Given the description of an element on the screen output the (x, y) to click on. 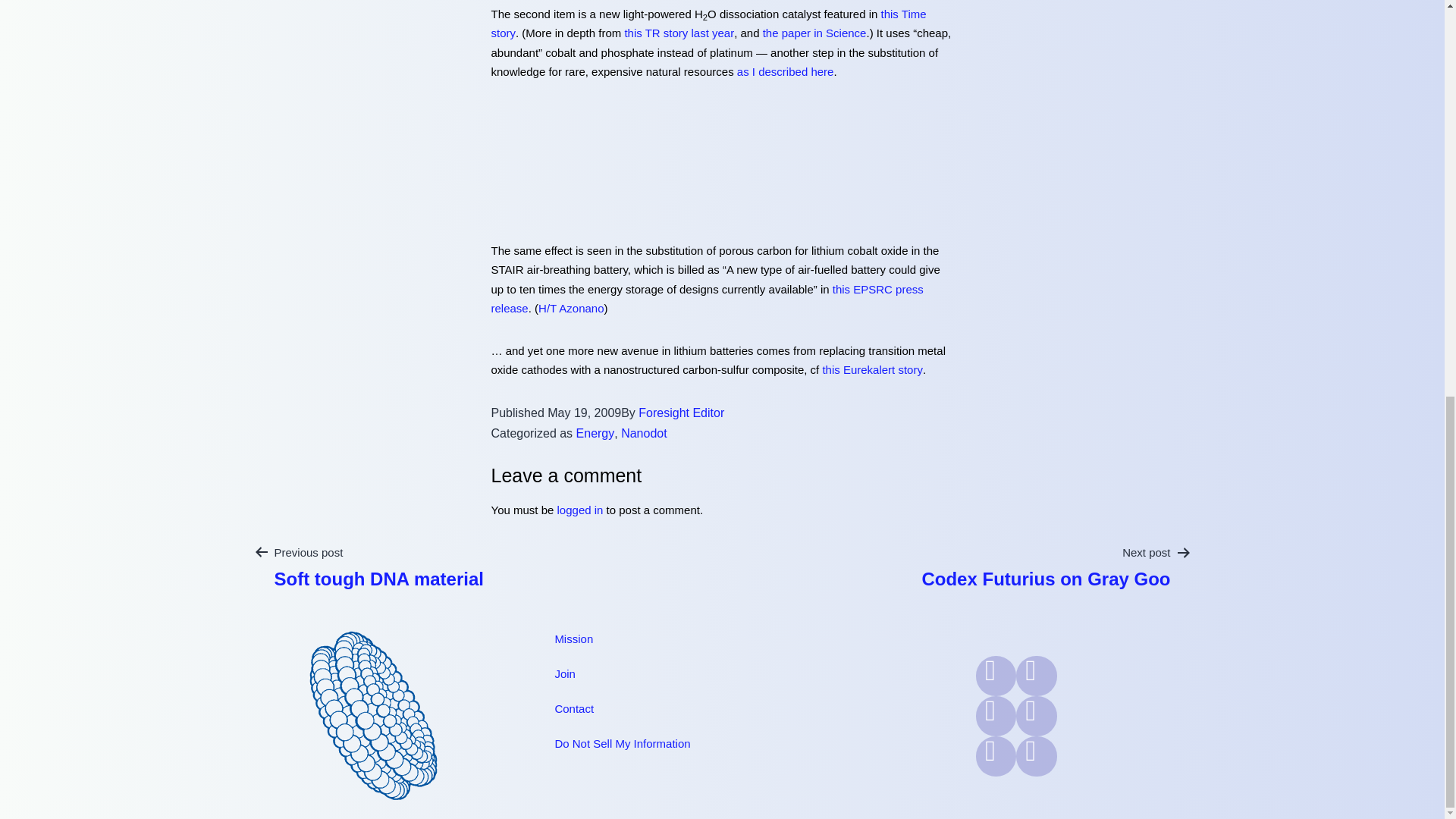
the paper in Science (814, 32)
this Time story (709, 23)
this TR story last year (678, 32)
as I described here (785, 71)
